Given the description of an element on the screen output the (x, y) to click on. 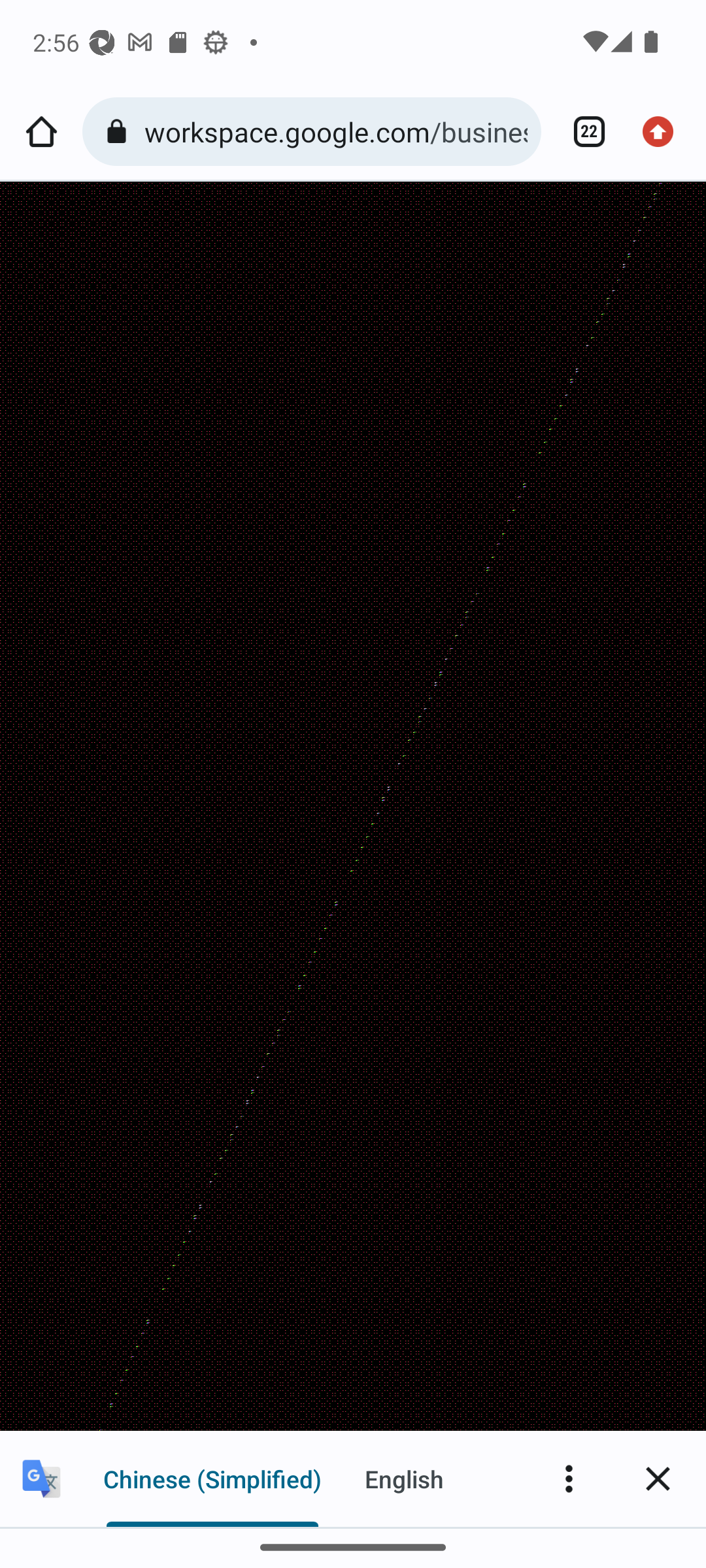
Home (41, 131)
Connection is secure (120, 131)
Switch or close tabs (582, 131)
Update available. More options (664, 131)
English (403, 1478)
More options (568, 1478)
Close (657, 1478)
